Given the description of an element on the screen output the (x, y) to click on. 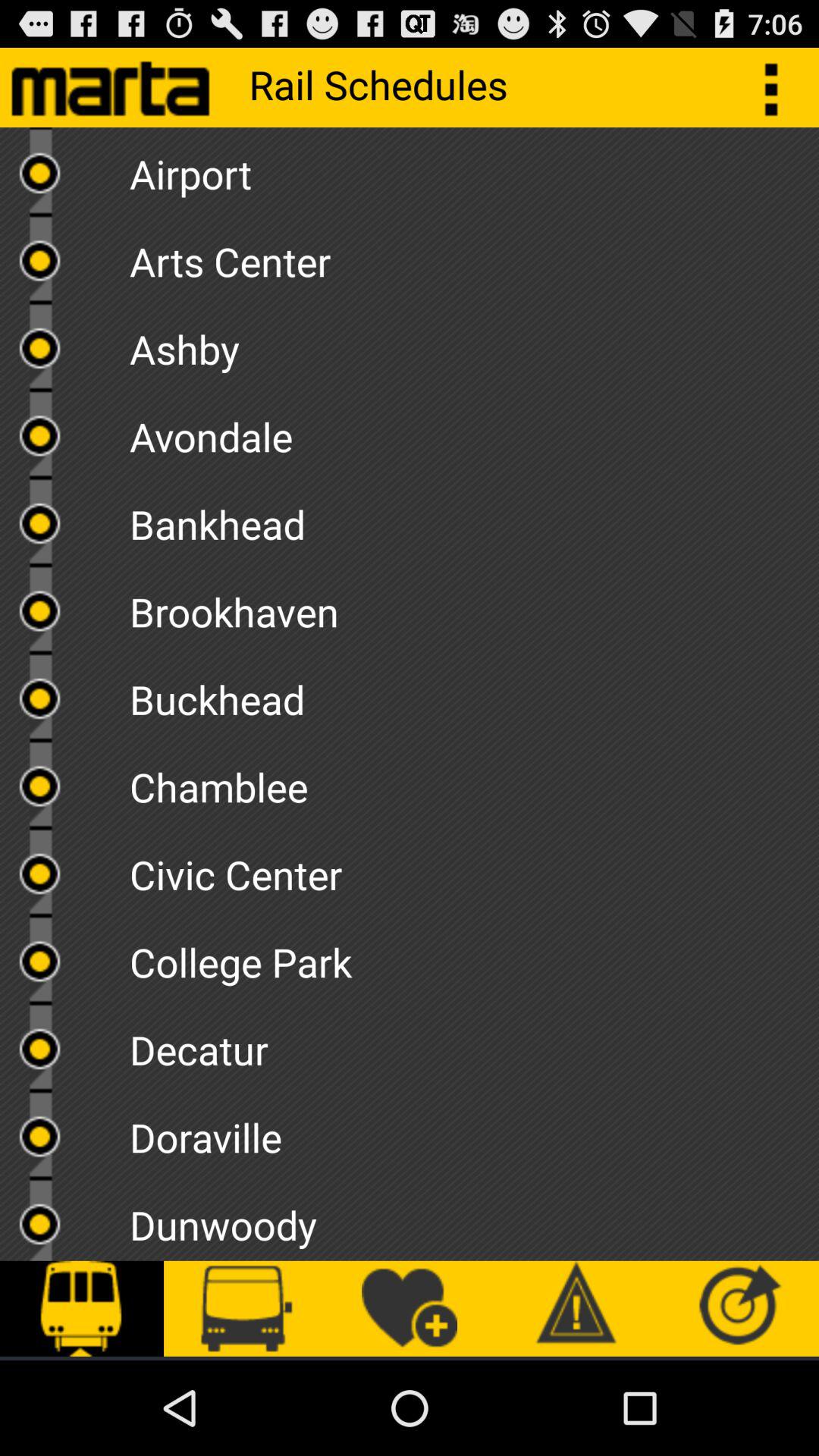
turn off doraville (474, 1131)
